Given the description of an element on the screen output the (x, y) to click on. 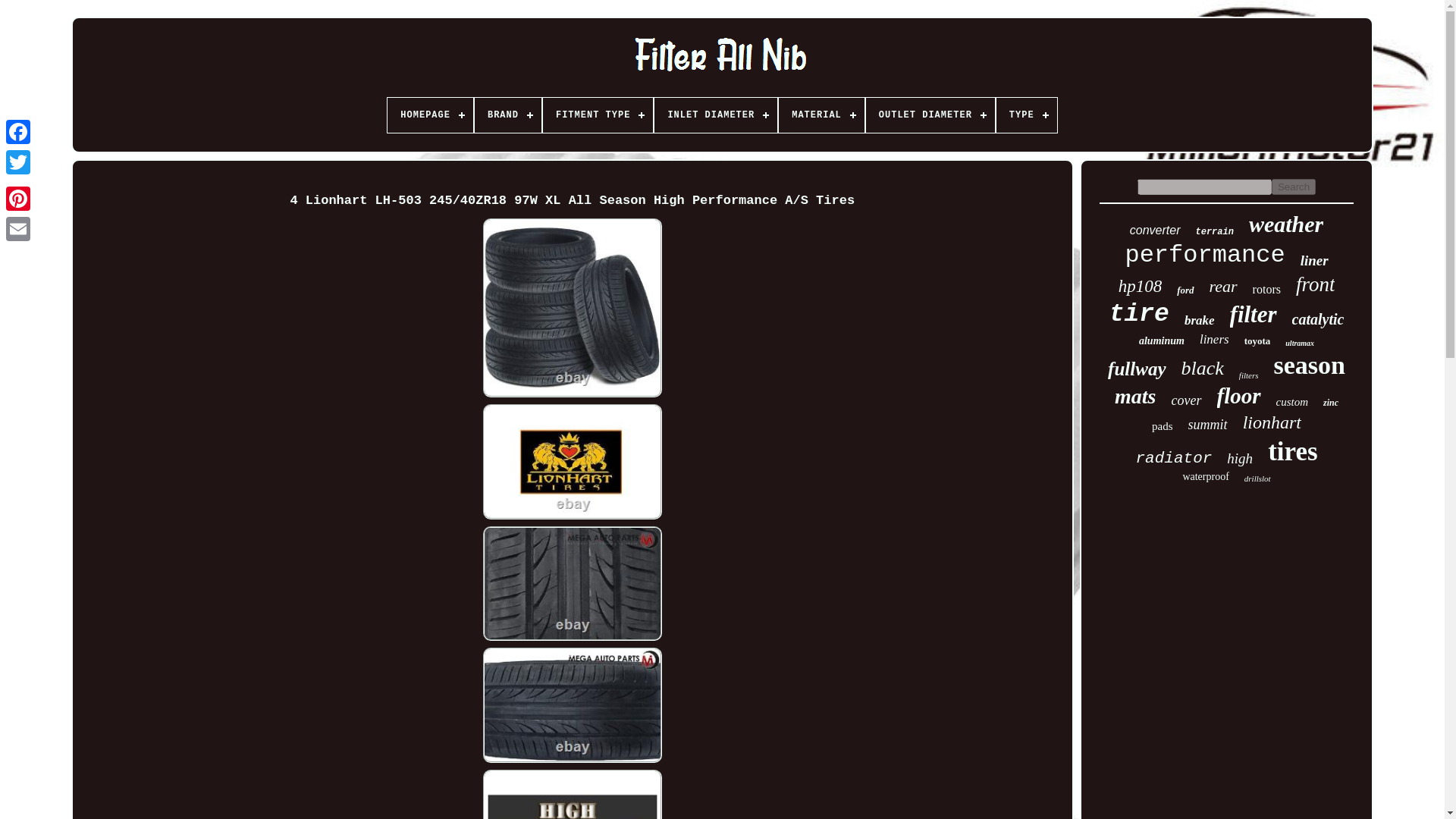
HOMEPAGE (430, 114)
FITMENT TYPE (597, 114)
BRAND (507, 114)
INLET DIAMETER (715, 114)
Search (1293, 186)
